Given the description of an element on the screen output the (x, y) to click on. 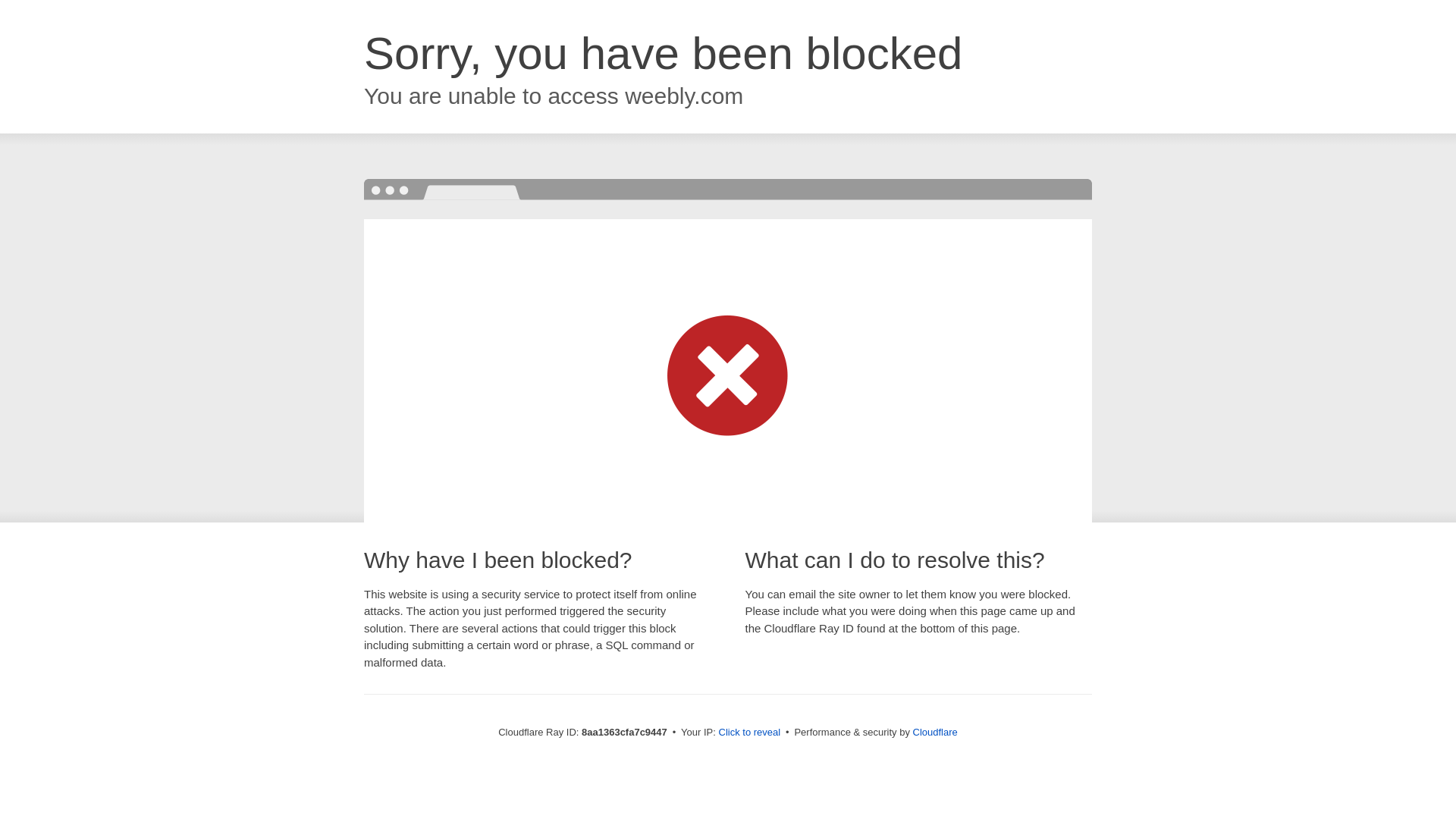
Click to reveal (749, 732)
Cloudflare (935, 731)
